Given the description of an element on the screen output the (x, y) to click on. 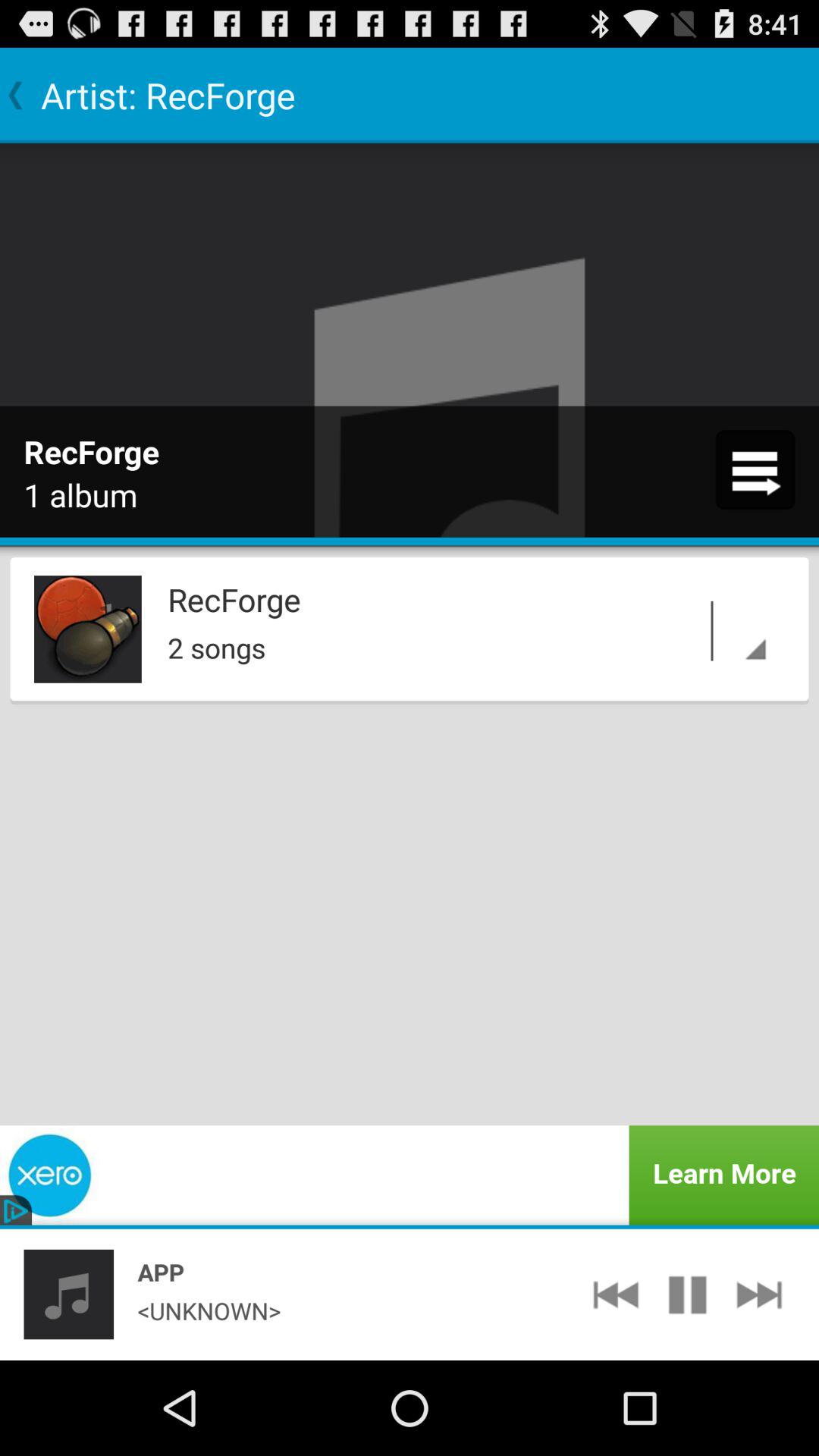
click app next to 1 album
 icon (755, 469)
